Given the description of an element on the screen output the (x, y) to click on. 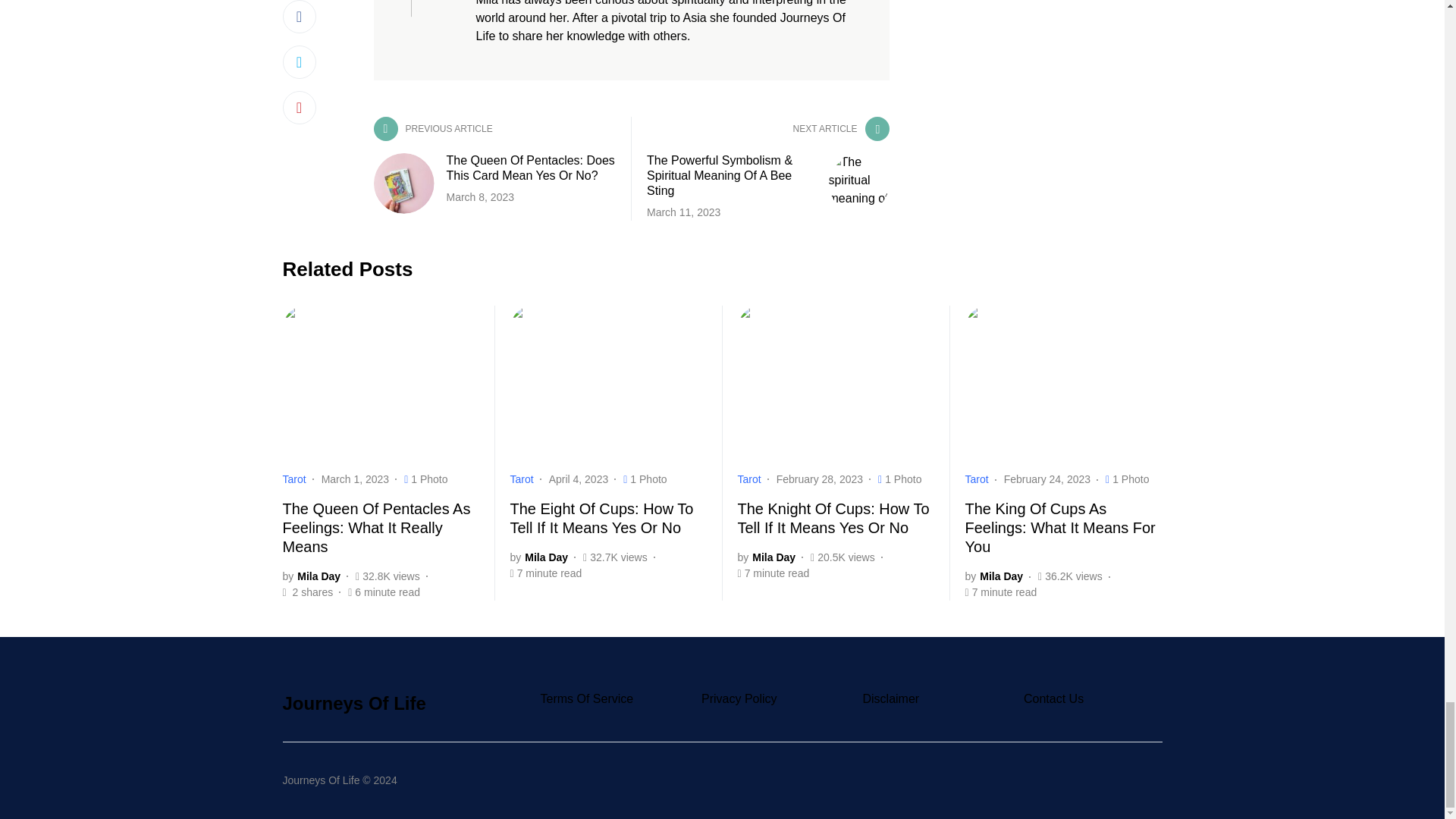
View all posts by Mila Day (993, 576)
View all posts by Mila Day (311, 575)
View all posts by Mila Day (765, 557)
View all posts by Mila Day (538, 557)
